Given the description of an element on the screen output the (x, y) to click on. 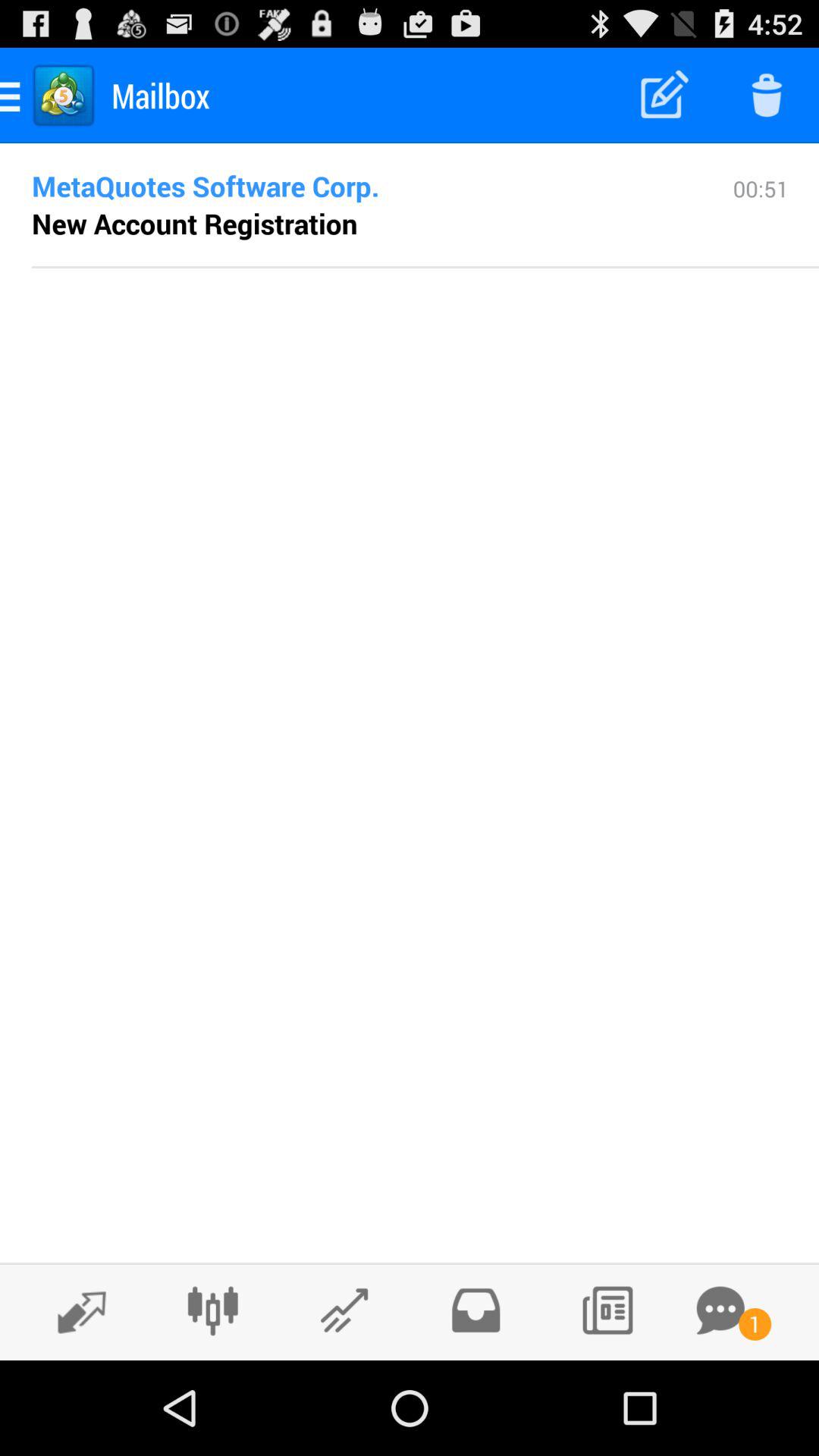
turn on icon to the right of the metaquotes software corp. (760, 219)
